Given the description of an element on the screen output the (x, y) to click on. 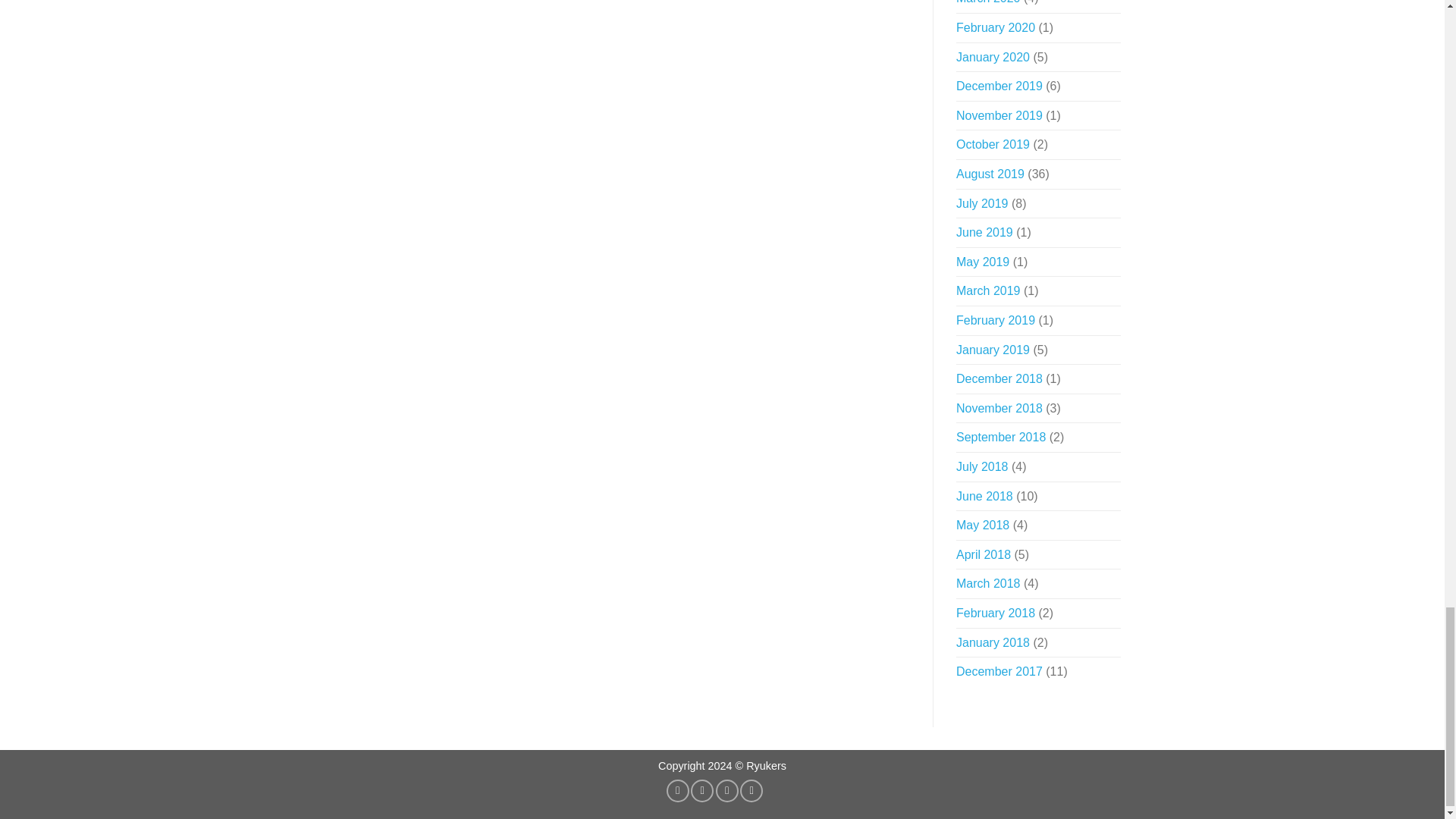
Follow on YouTube (750, 790)
Follow on Instagram (701, 790)
Follow on Facebook (677, 790)
Follow on Twitter (727, 790)
